Given the description of an element on the screen output the (x, y) to click on. 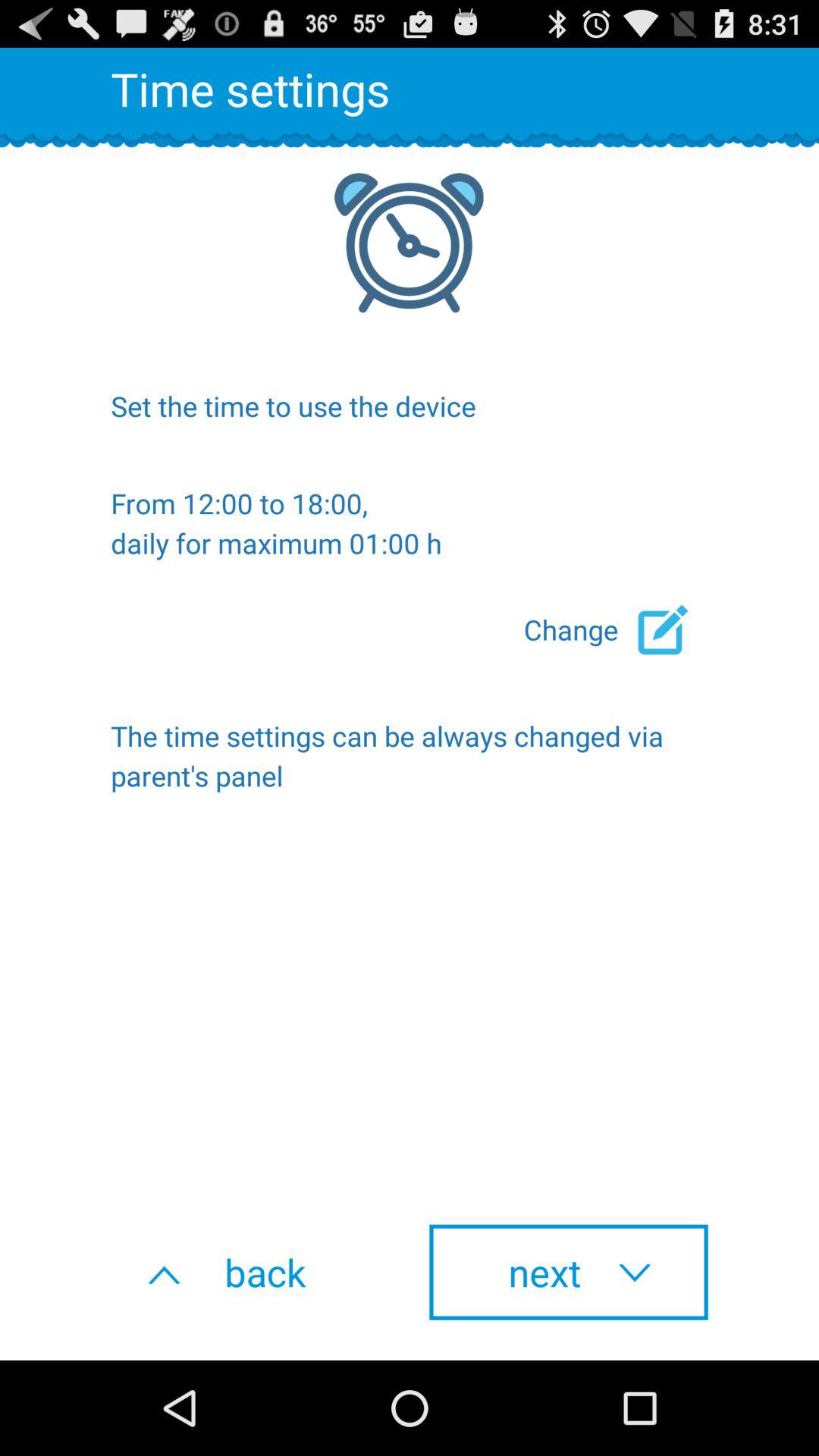
click item next to next icon (249, 1272)
